Given the description of an element on the screen output the (x, y) to click on. 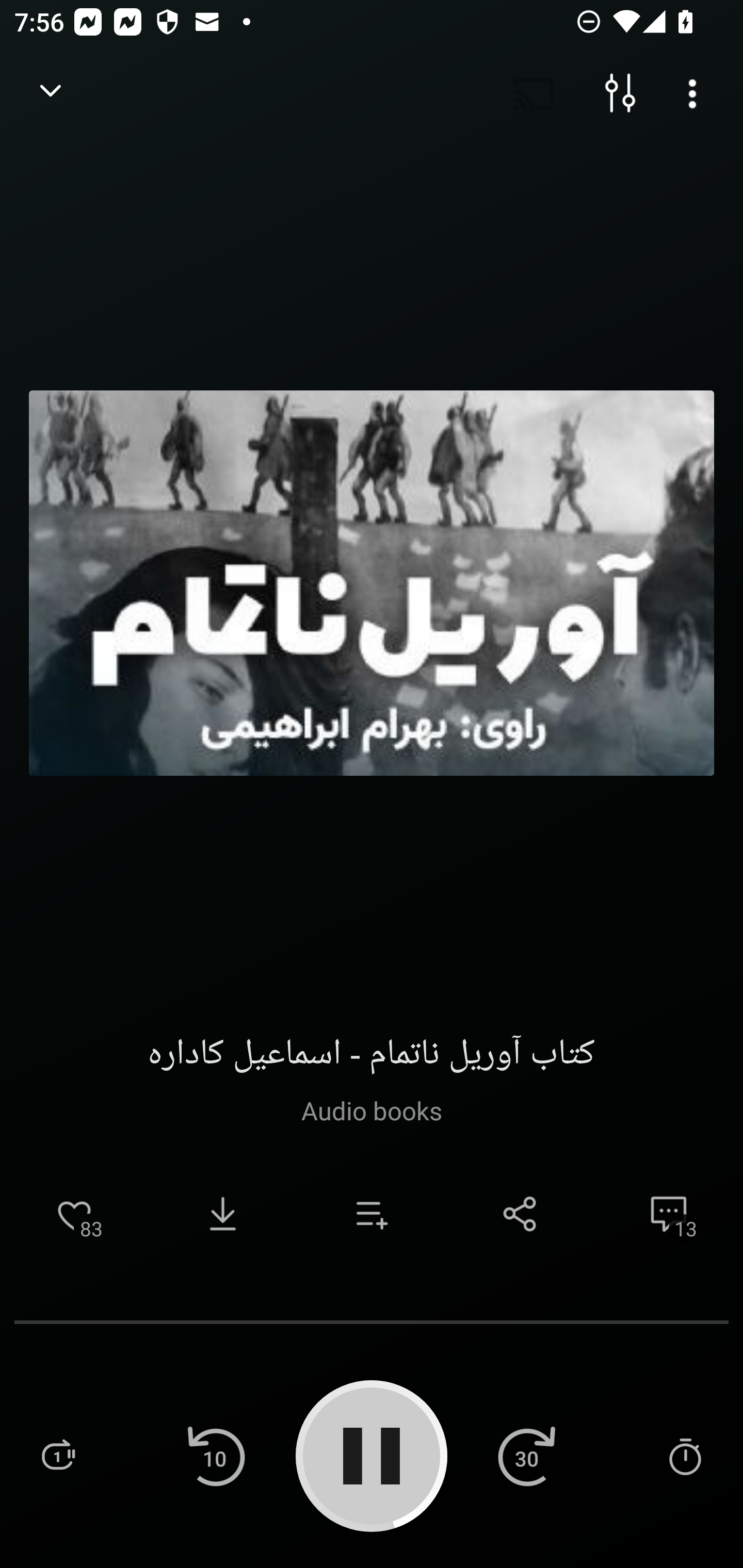
 Back (50, 94)
Audio books (370, 1109)
Share (519, 1214)
13 Comments (668, 1214)
Add to Favorites (73, 1214)
Add to playlist (371, 1214)
 Playlist (57, 1455)
Sleep Timer  (684, 1455)
